Given the description of an element on the screen output the (x, y) to click on. 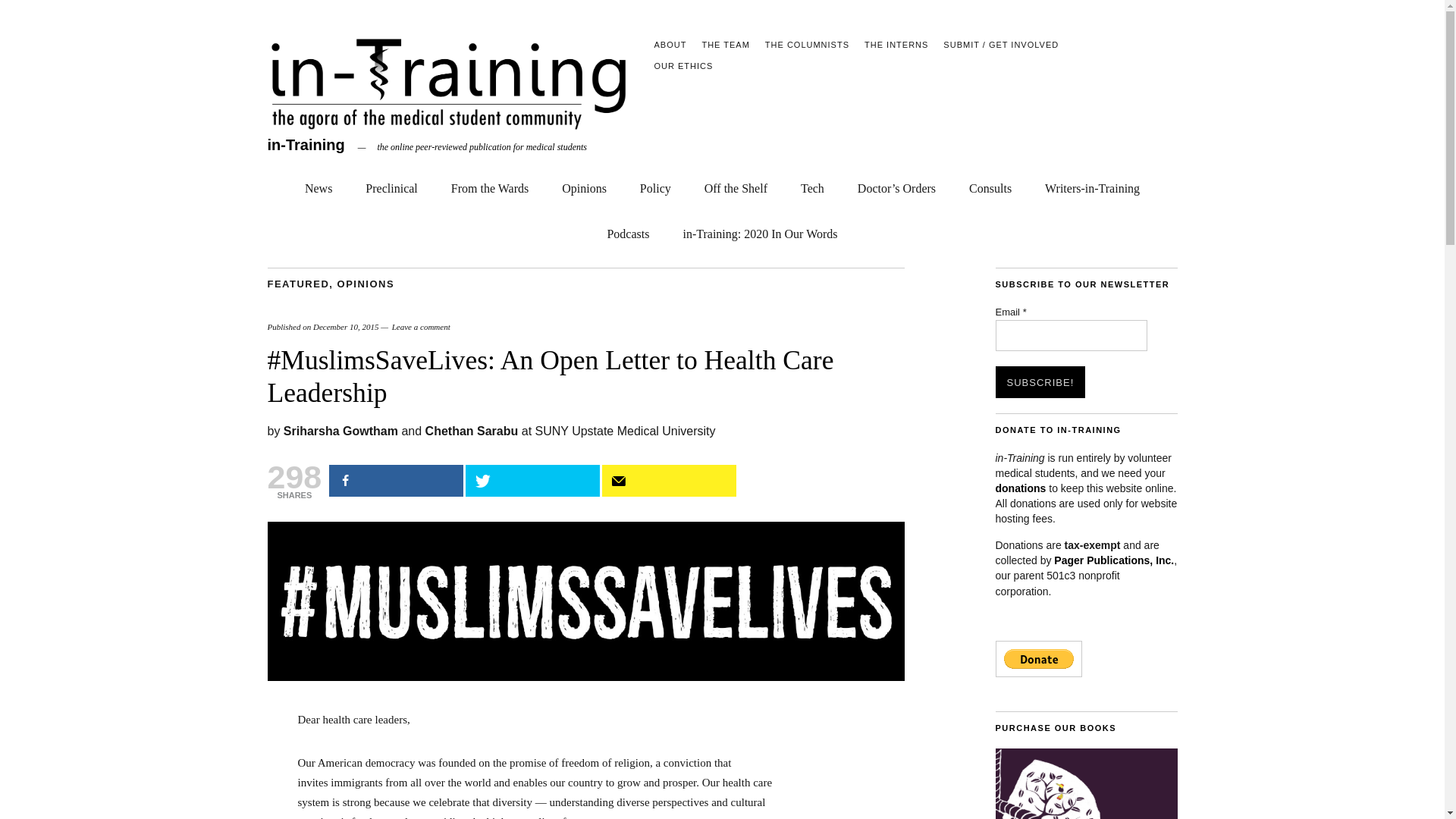
Posts by Sriharsha Gowtham (340, 431)
Chethan Sarabu (471, 431)
Email (1070, 336)
Consults (990, 185)
THE TEAM (725, 44)
OPINIONS (365, 283)
Leave a comment (420, 326)
Subscribe! (1039, 382)
Writers-in-Training (1092, 185)
FEATURED (297, 283)
Sriharsha Gowtham (340, 431)
Preclinical (390, 185)
in-Training: 2020 In Our Words (759, 230)
Opinions (584, 185)
ABOUT (669, 44)
